Given the description of an element on the screen output the (x, y) to click on. 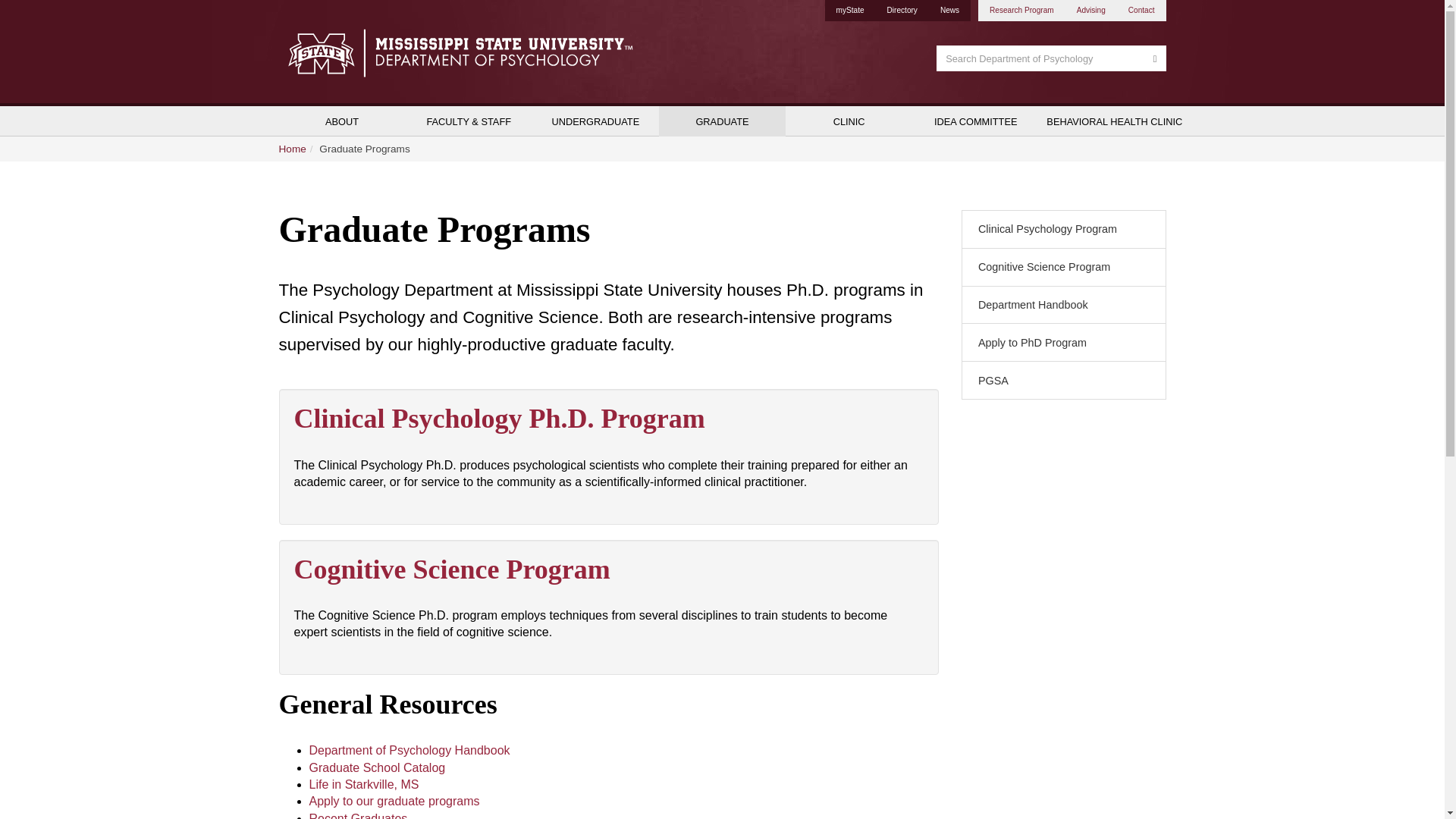
Mississippi State University (317, 52)
